Given the description of an element on the screen output the (x, y) to click on. 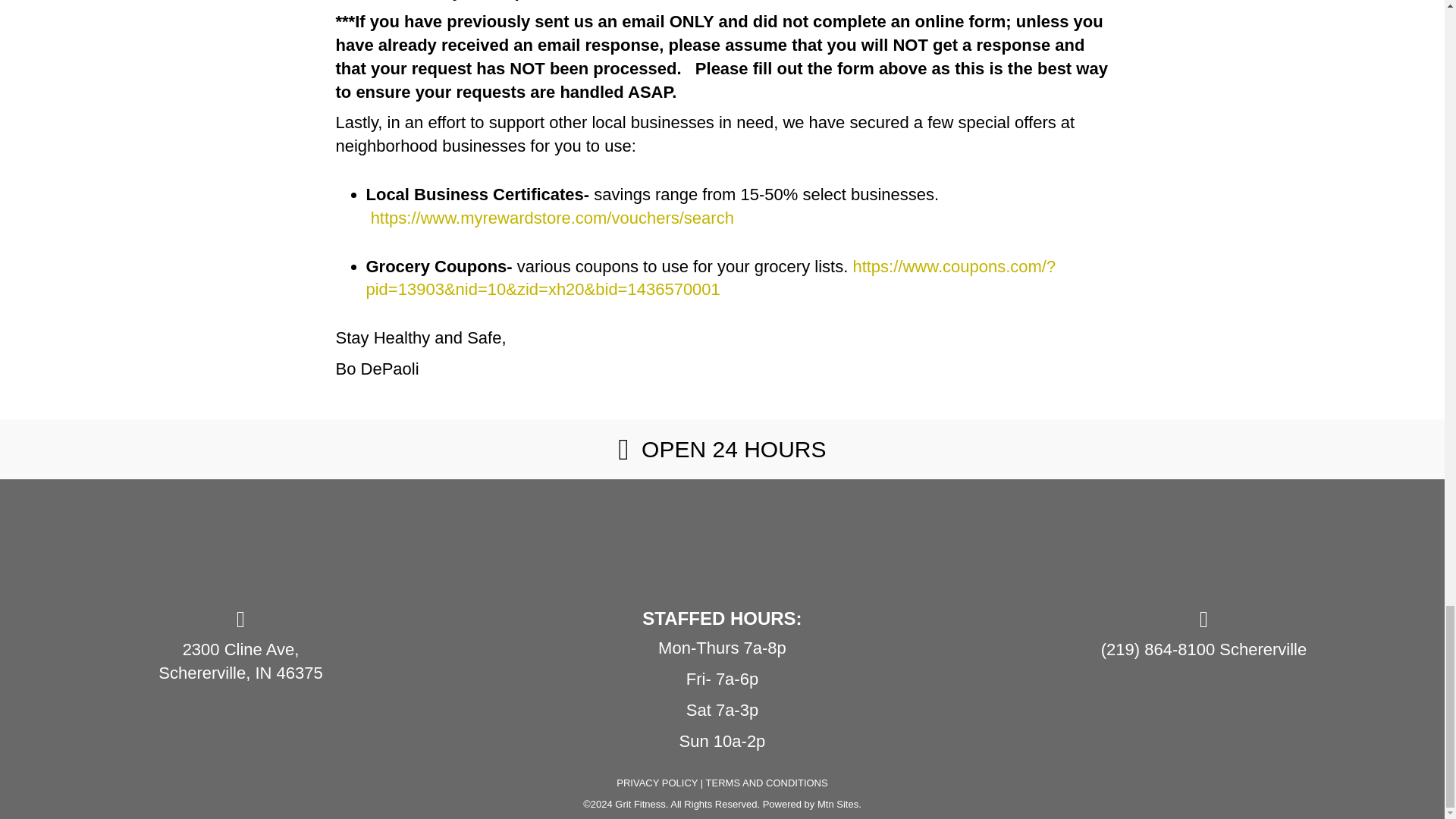
Call via Hangouts (1157, 649)
PRIVACY POLICY (656, 782)
Mtn Sites (837, 803)
TERMS AND CONDITIONS (767, 782)
grit-fitness-logo-white (721, 527)
